Given the description of an element on the screen output the (x, y) to click on. 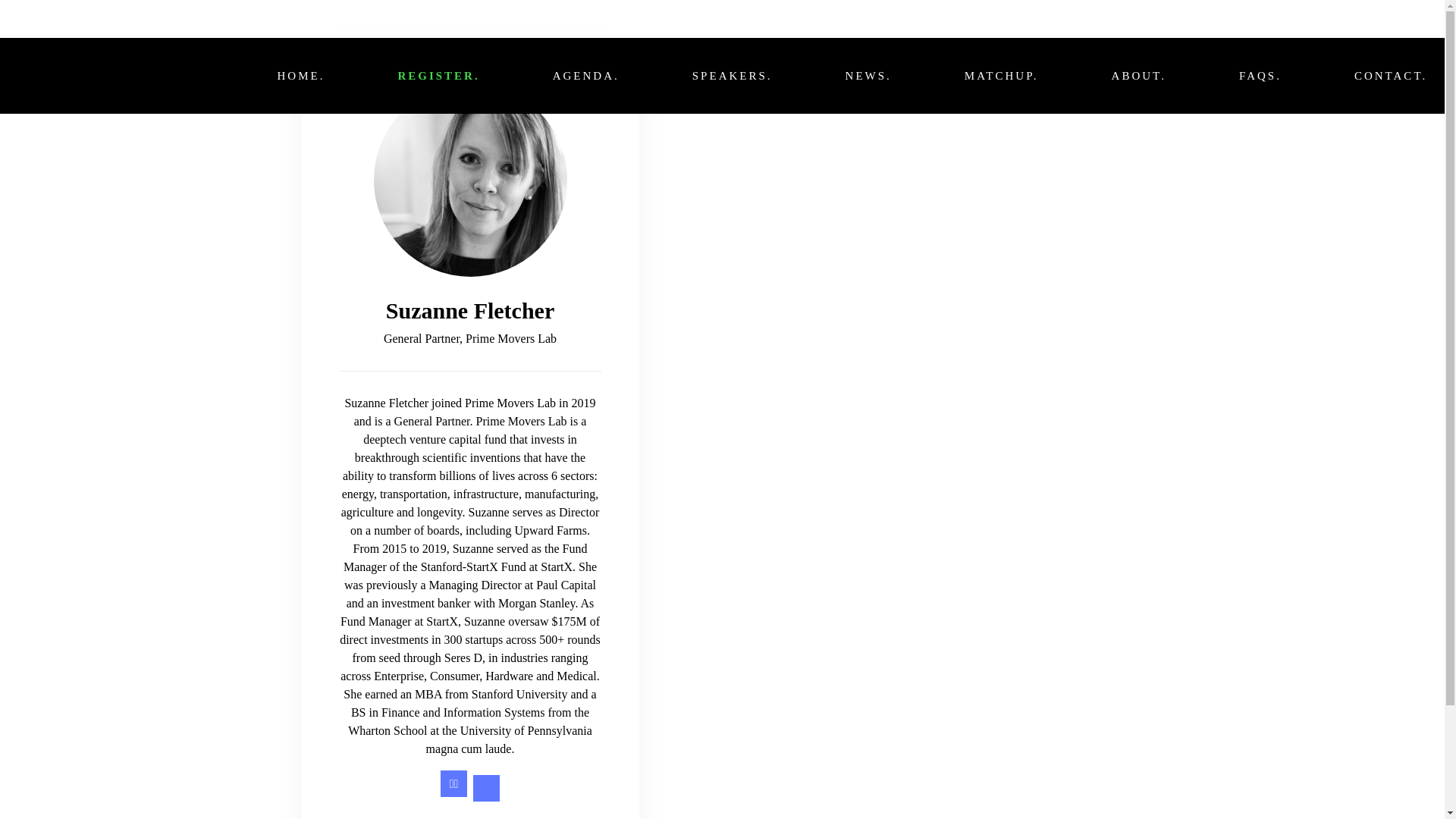
AGENDA (586, 76)
Register (438, 76)
Home (301, 76)
SPEAKERS (732, 76)
About (1138, 76)
NEWS (868, 76)
FAQS (1259, 76)
News (868, 76)
ABOUT (1138, 76)
HOME (301, 76)
REGISTER (438, 76)
Speakers (732, 76)
MATCHUP (1001, 76)
Agenda (586, 76)
FAQs (1259, 76)
